Given the description of an element on the screen output the (x, y) to click on. 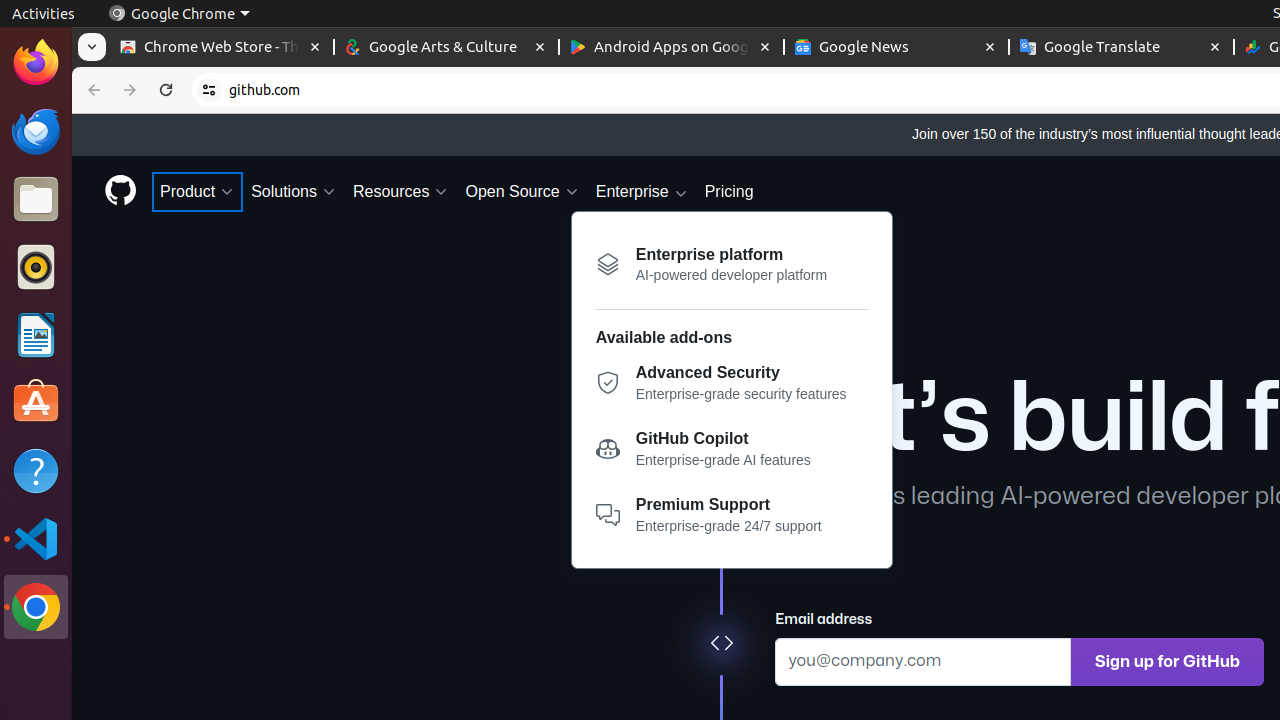
Reload Element type: push-button (166, 90)
Sign up for GitHub Element type: push-button (1167, 661)
Help Element type: push-button (36, 470)
Skip to content Element type: link (72, 114)
Enterprise Element type: push-button (642, 191)
